Given the description of an element on the screen output the (x, y) to click on. 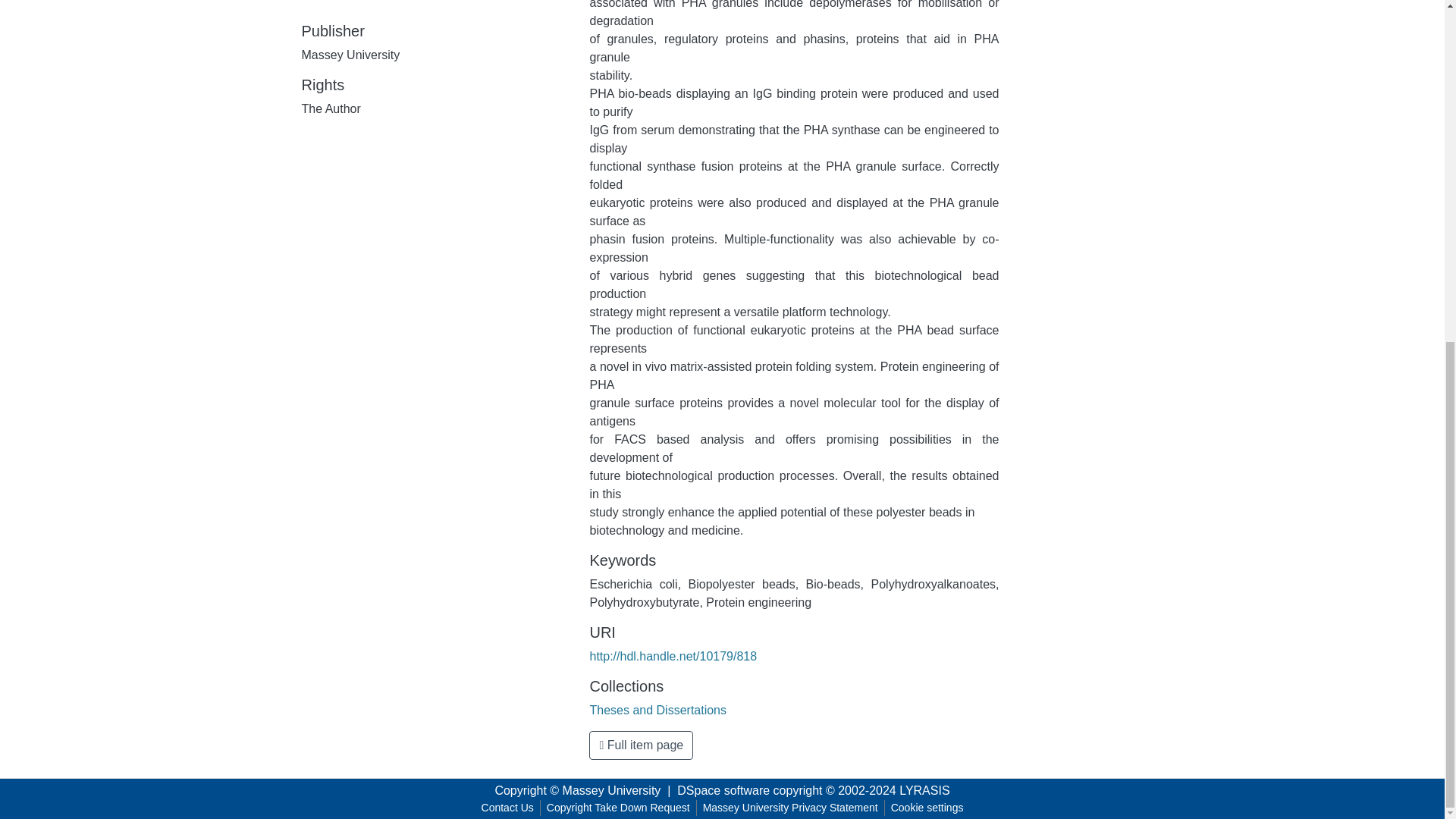
LYRASIS (924, 789)
Theses and Dissertations (657, 709)
DSpace software (723, 789)
Full item page (641, 745)
Contact Us (508, 807)
